Given the description of an element on the screen output the (x, y) to click on. 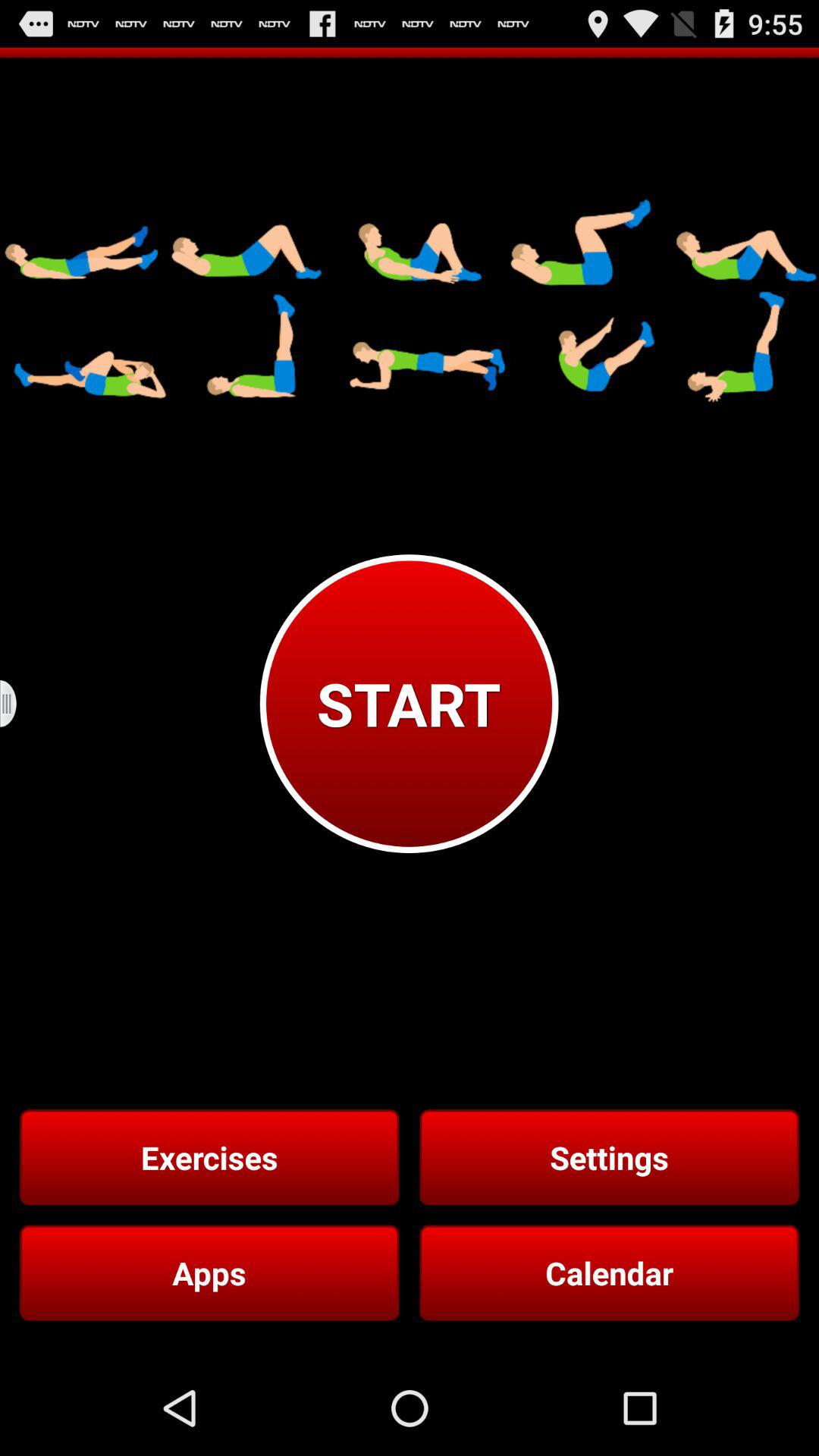
turn off the item to the right of apps item (609, 1272)
